Given the description of an element on the screen output the (x, y) to click on. 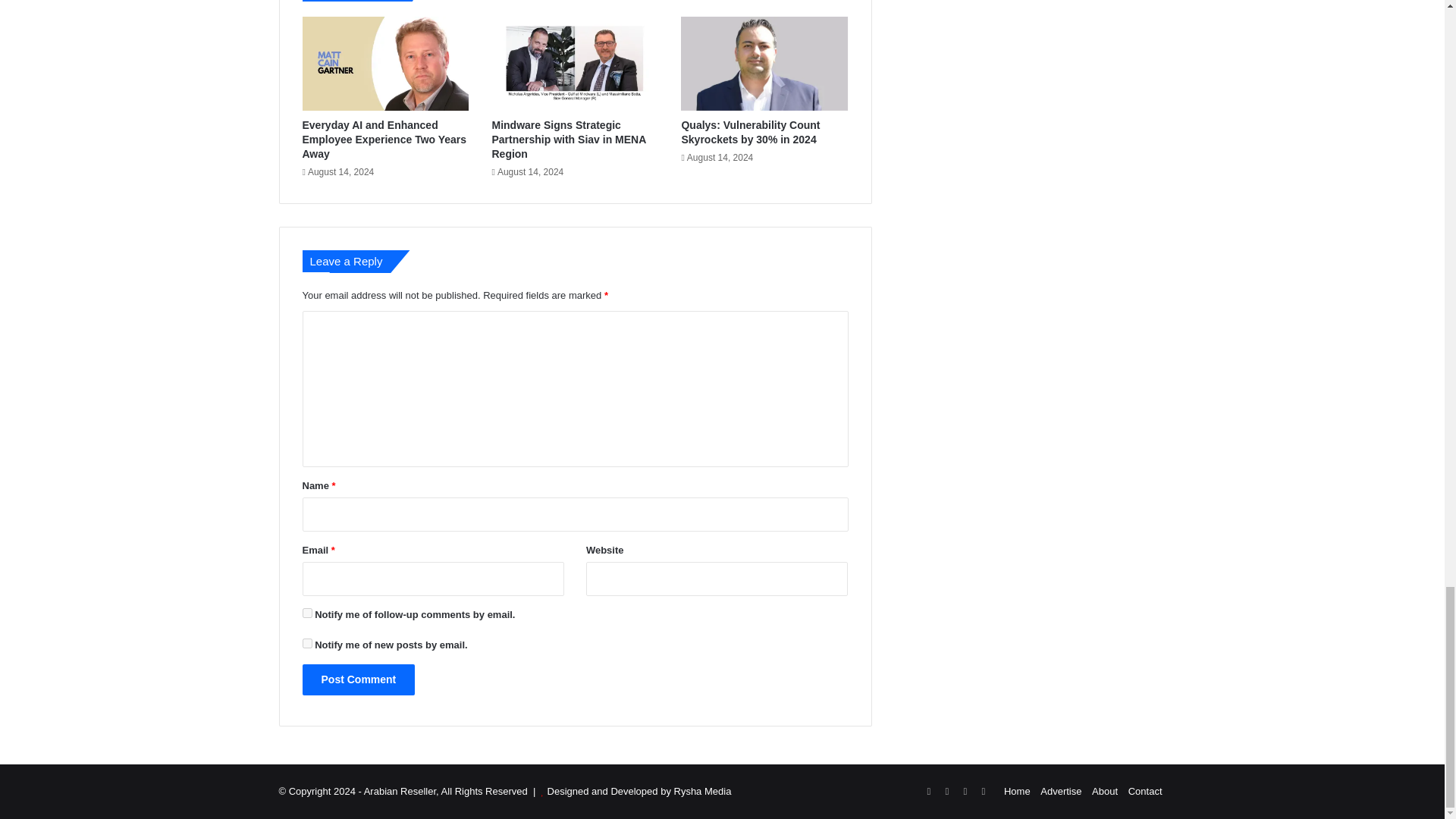
Post Comment (357, 679)
subscribe (306, 613)
subscribe (306, 643)
